Given the description of an element on the screen output the (x, y) to click on. 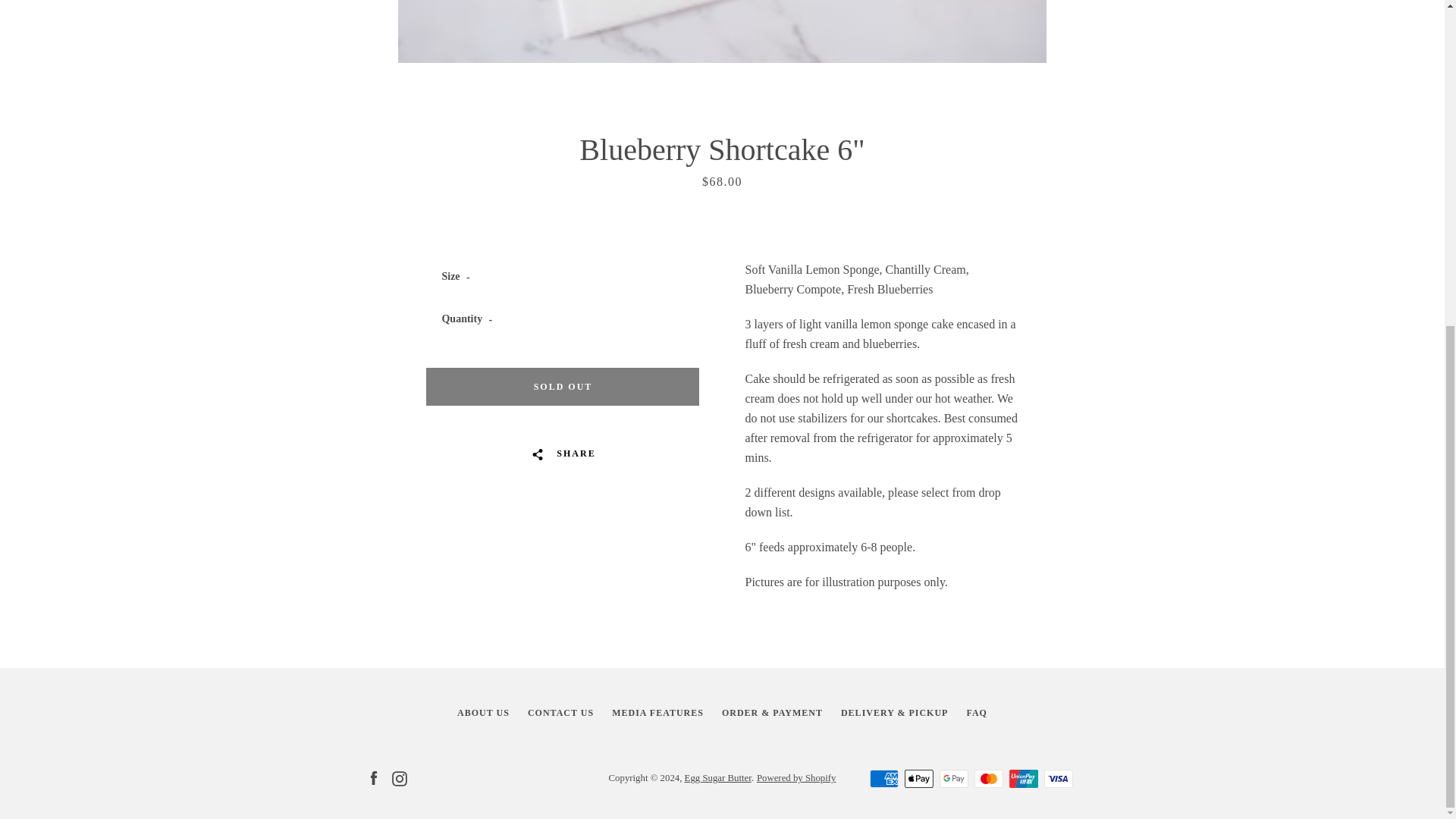
ABOUT US (483, 712)
Egg Sugar Butter on Facebook (372, 776)
Egg Sugar Butter on Instagram (398, 776)
Apple Pay (918, 778)
Union Pay (1022, 778)
American Express (883, 778)
Mastercard (988, 778)
SHARE (562, 453)
CONTACT US (560, 712)
Visa (1057, 778)
